Given the description of an element on the screen output the (x, y) to click on. 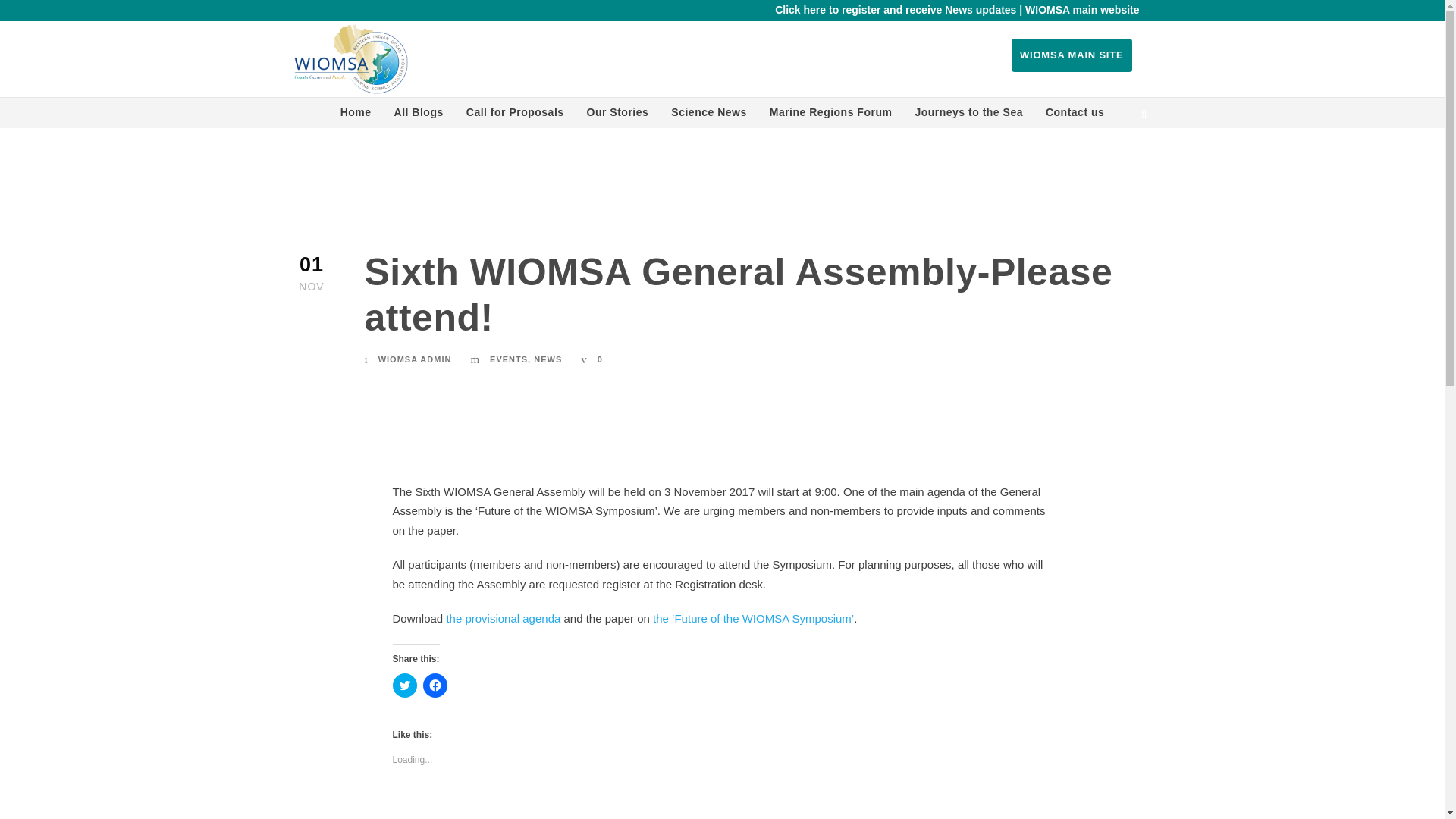
Our Stories (617, 115)
the provisional agenda (502, 617)
All Blogs (419, 115)
WIOMSA main website (1081, 9)
WIOMSA ADMIN (414, 358)
Posts by WIOMSA Admin (414, 358)
Click to share on Twitter (404, 685)
Call for Proposals (514, 115)
Home (355, 115)
WIOMSA MAIN SITE (1071, 55)
